Given the description of an element on the screen output the (x, y) to click on. 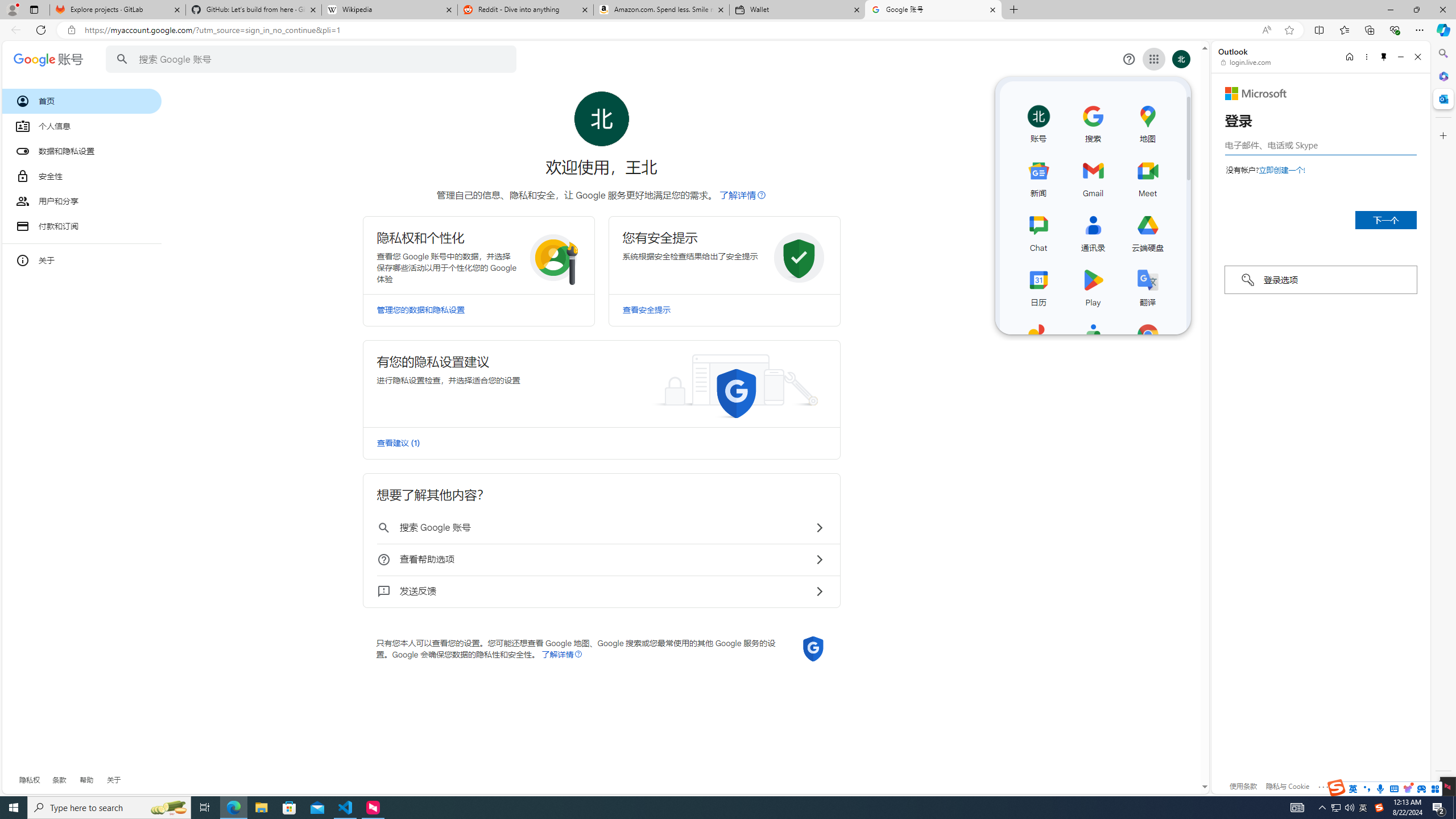
Gmail (1093, 176)
